Given the description of an element on the screen output the (x, y) to click on. 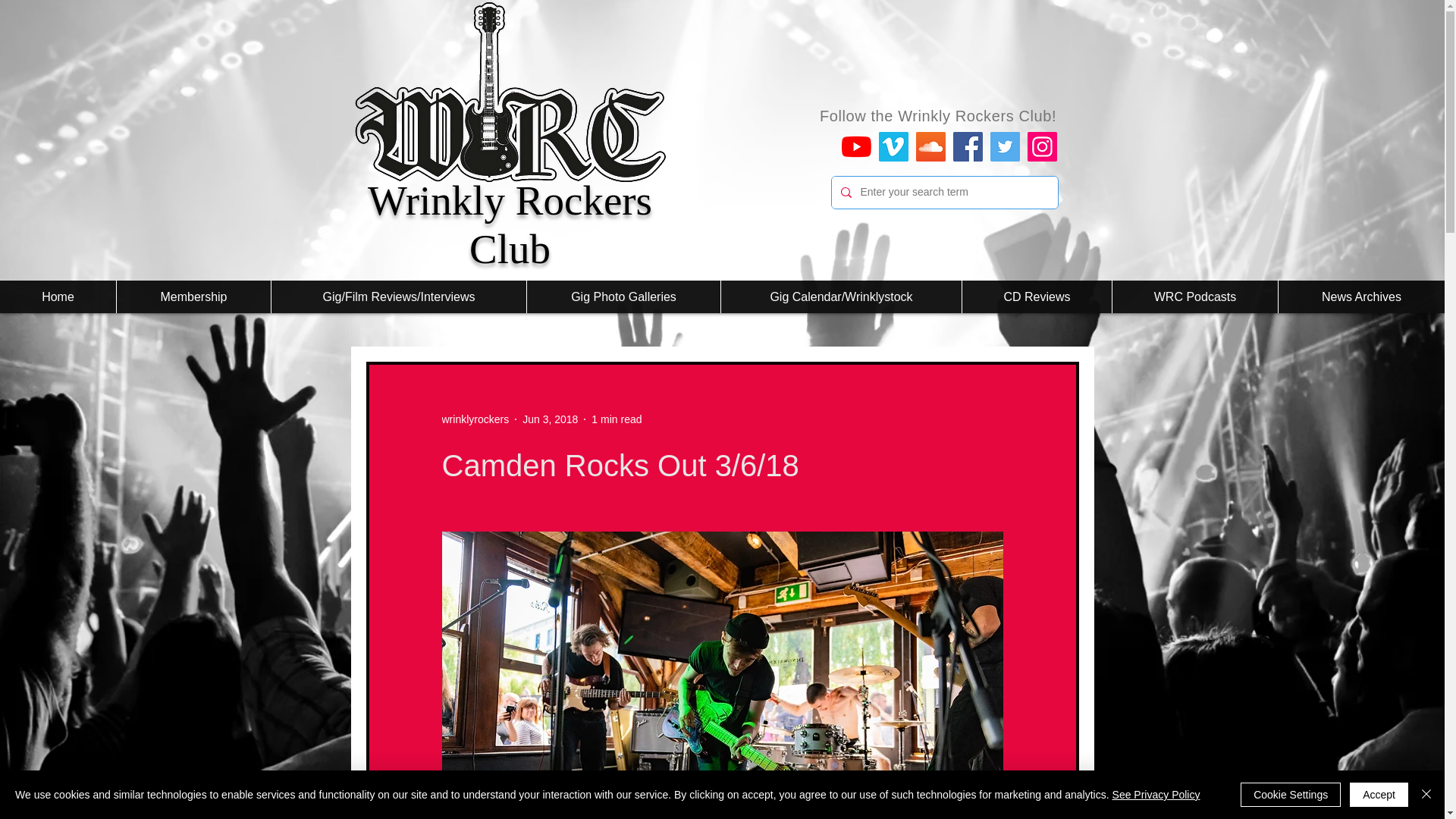
CD Reviews (1036, 296)
wrinklyrockers (474, 418)
Jun 3, 2018 (550, 418)
1 min read (616, 418)
Membership (193, 296)
Wrinkly Rockers Club (510, 223)
wrinklyrockers (474, 418)
Gig Photo Galleries (622, 296)
WRC Podcasts (1195, 296)
Home (58, 296)
